Given the description of an element on the screen output the (x, y) to click on. 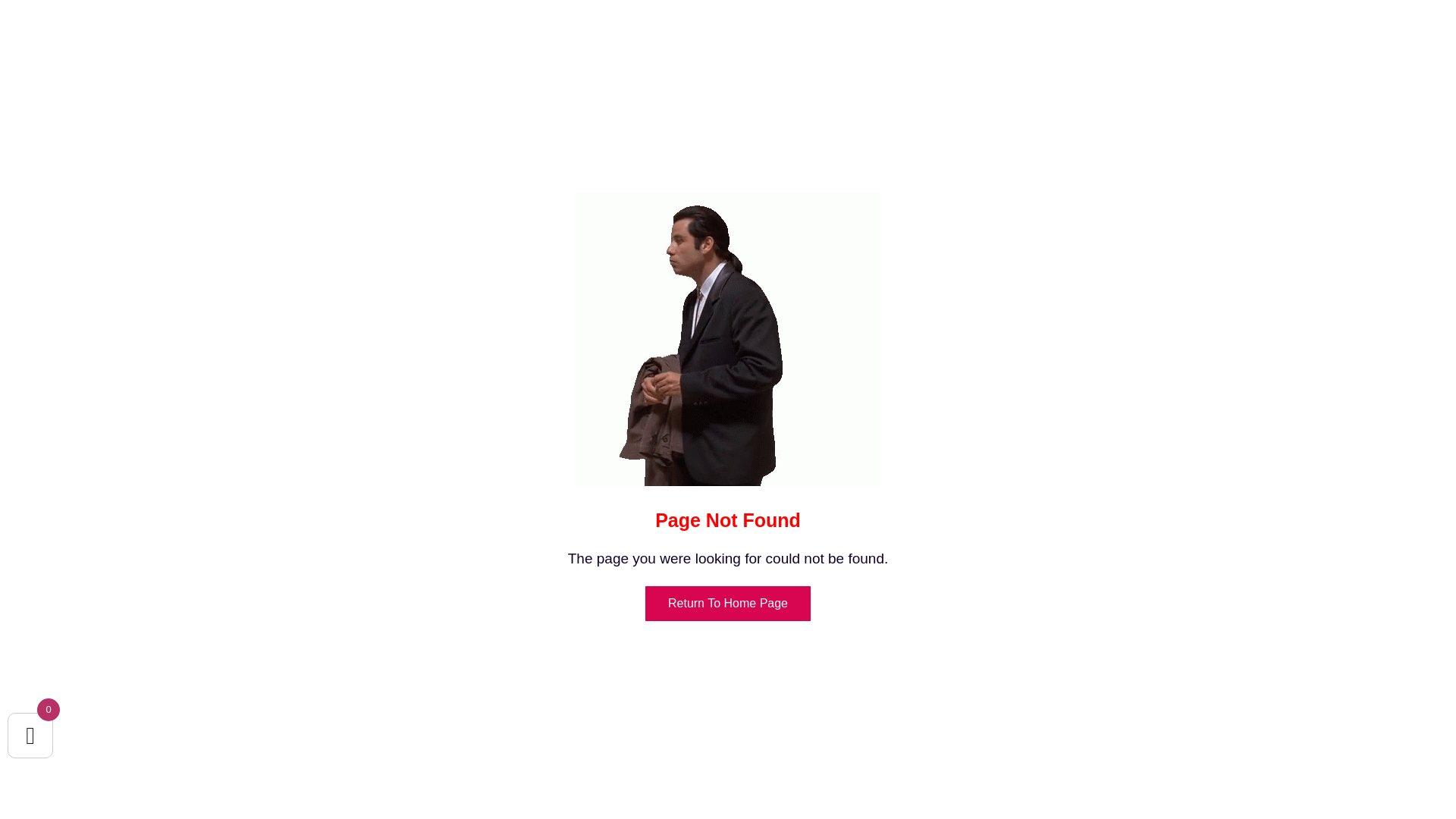
Return To Home Page (727, 603)
